Given the description of an element on the screen output the (x, y) to click on. 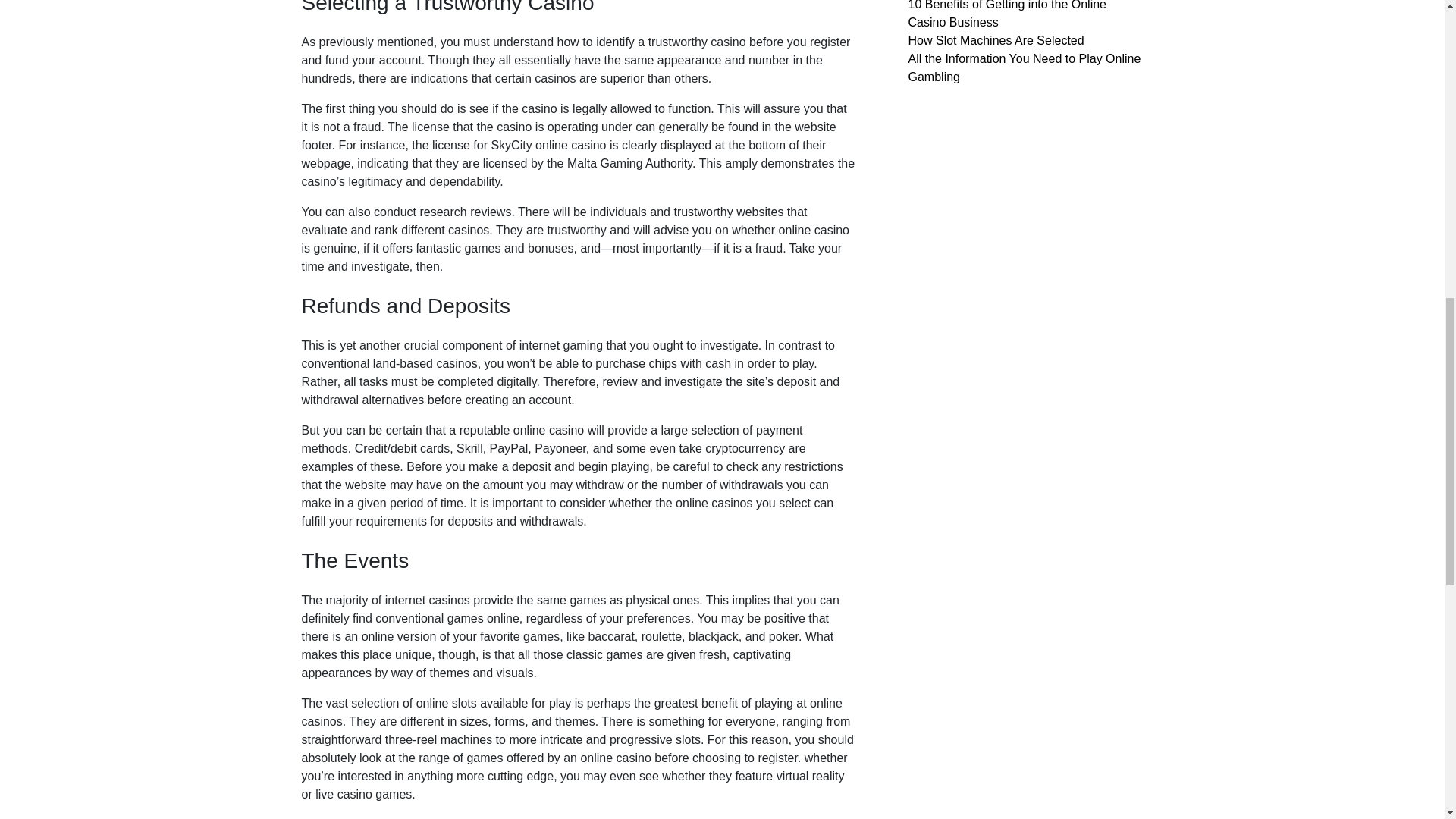
10 Benefits of Getting into the Online Casino Business (1007, 14)
All the Information You Need to Play Online Gambling (1024, 67)
How Slot Machines Are Selected (996, 40)
